Given the description of an element on the screen output the (x, y) to click on. 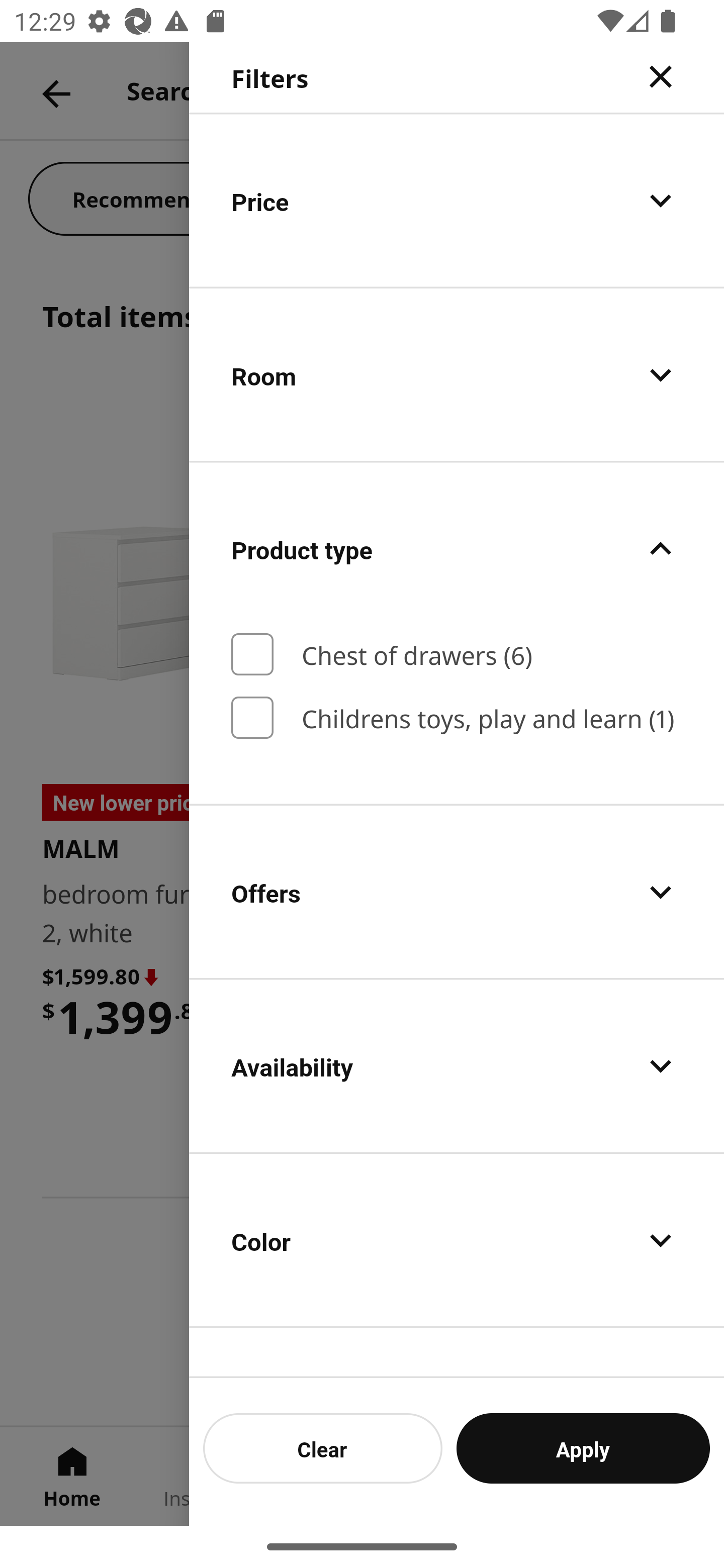
Price (456, 200)
Room (456, 374)
Product type (456, 548)
Chest of drawers (6) (456, 654)
Childrens toys, play and learn (1) (456, 717)
Offers (456, 891)
Availability (456, 1065)
Color (456, 1239)
Clear (322, 1447)
Apply (583, 1447)
